Given the description of an element on the screen output the (x, y) to click on. 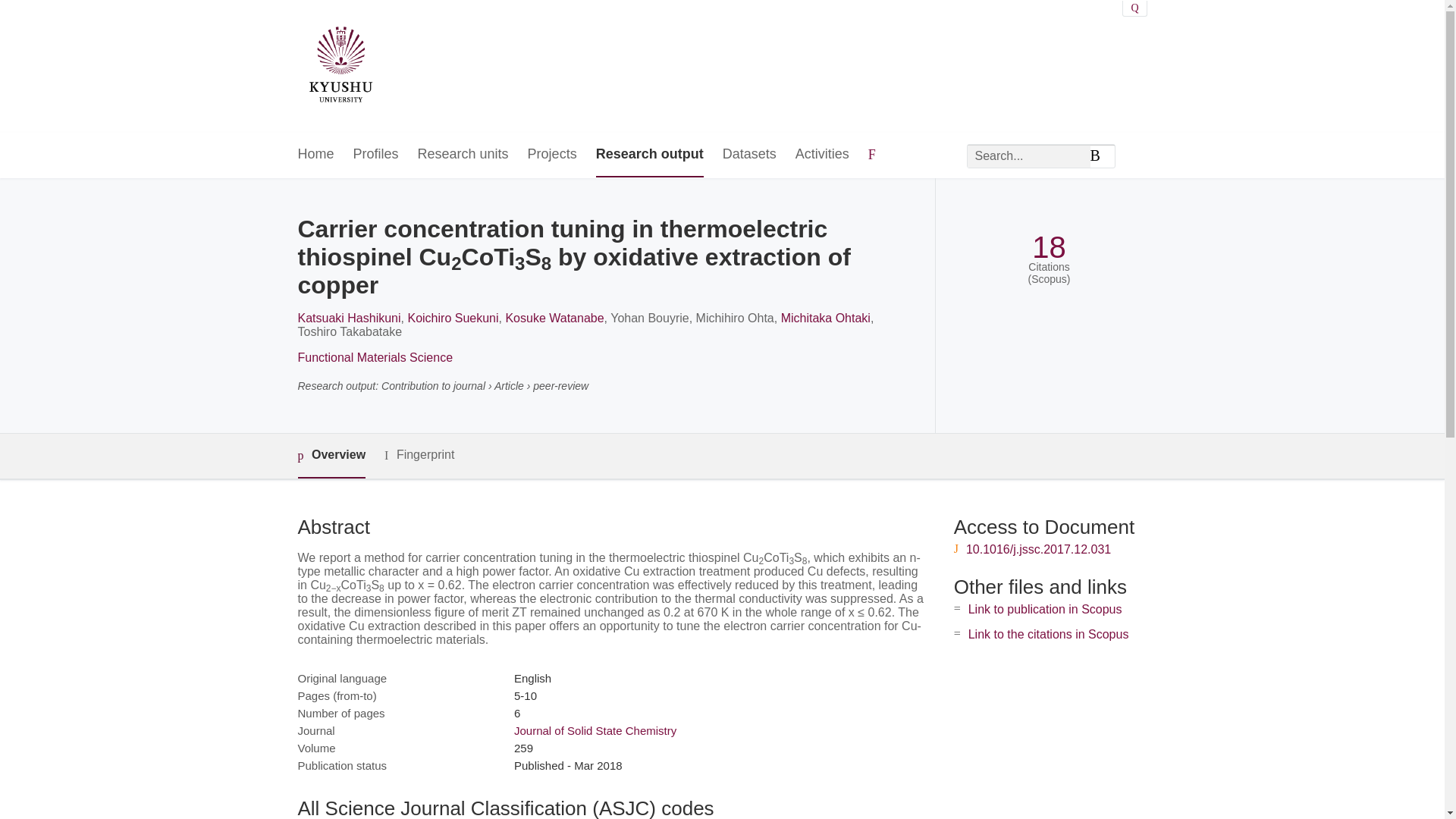
Kosuke Watanabe (554, 318)
Link to the citations in Scopus (1048, 634)
Koichiro Suekuni (452, 318)
18 (1048, 247)
Journal of Solid State Chemistry (595, 730)
Michitaka Ohtaki (825, 318)
Fingerprint (419, 455)
Datasets (749, 154)
Overview (331, 456)
